Given the description of an element on the screen output the (x, y) to click on. 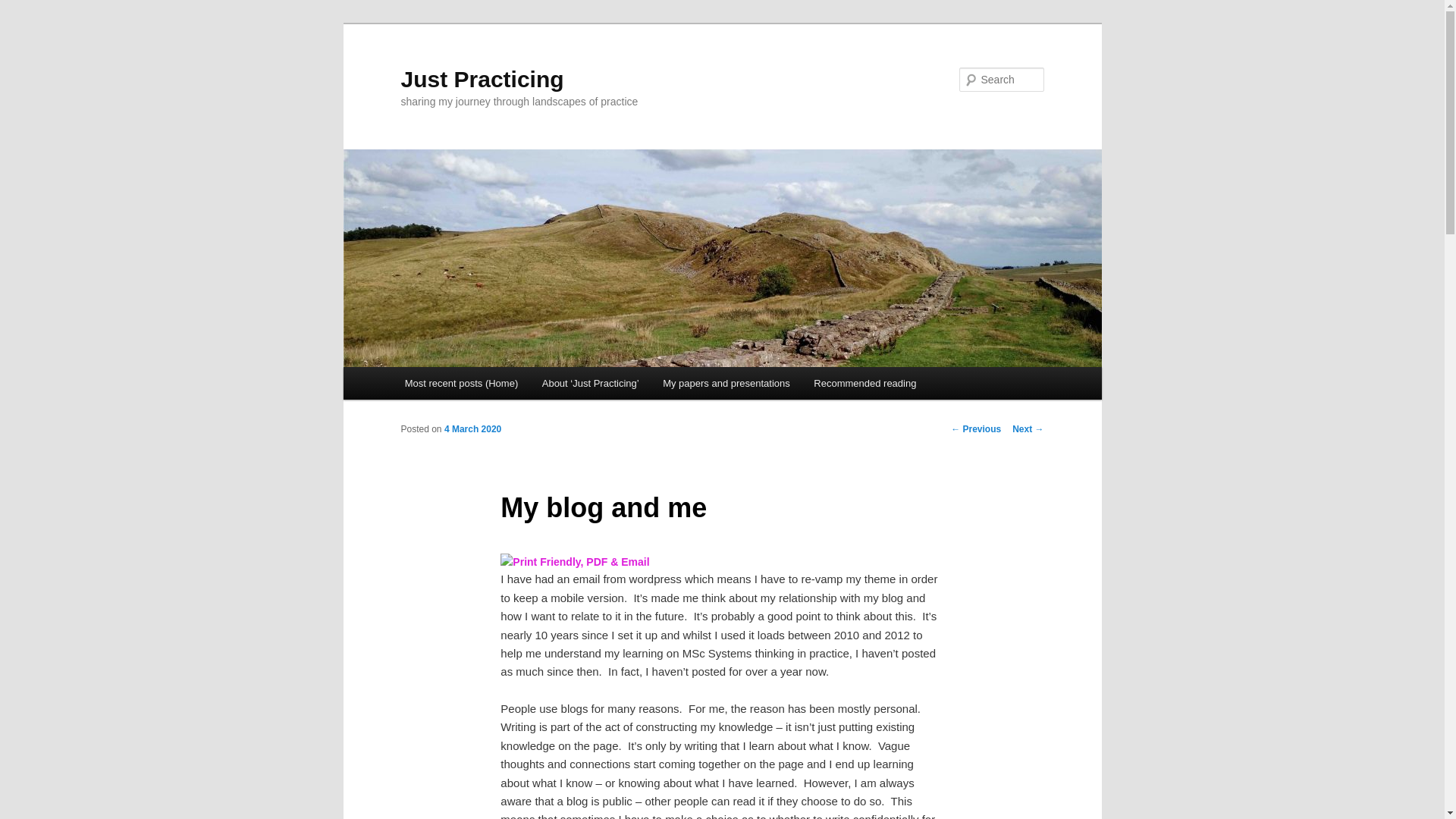
My papers and presentations (726, 382)
Just Practicing (481, 78)
Recommended reading (865, 382)
Search (24, 8)
4 March 2020 (472, 429)
